Given the description of an element on the screen output the (x, y) to click on. 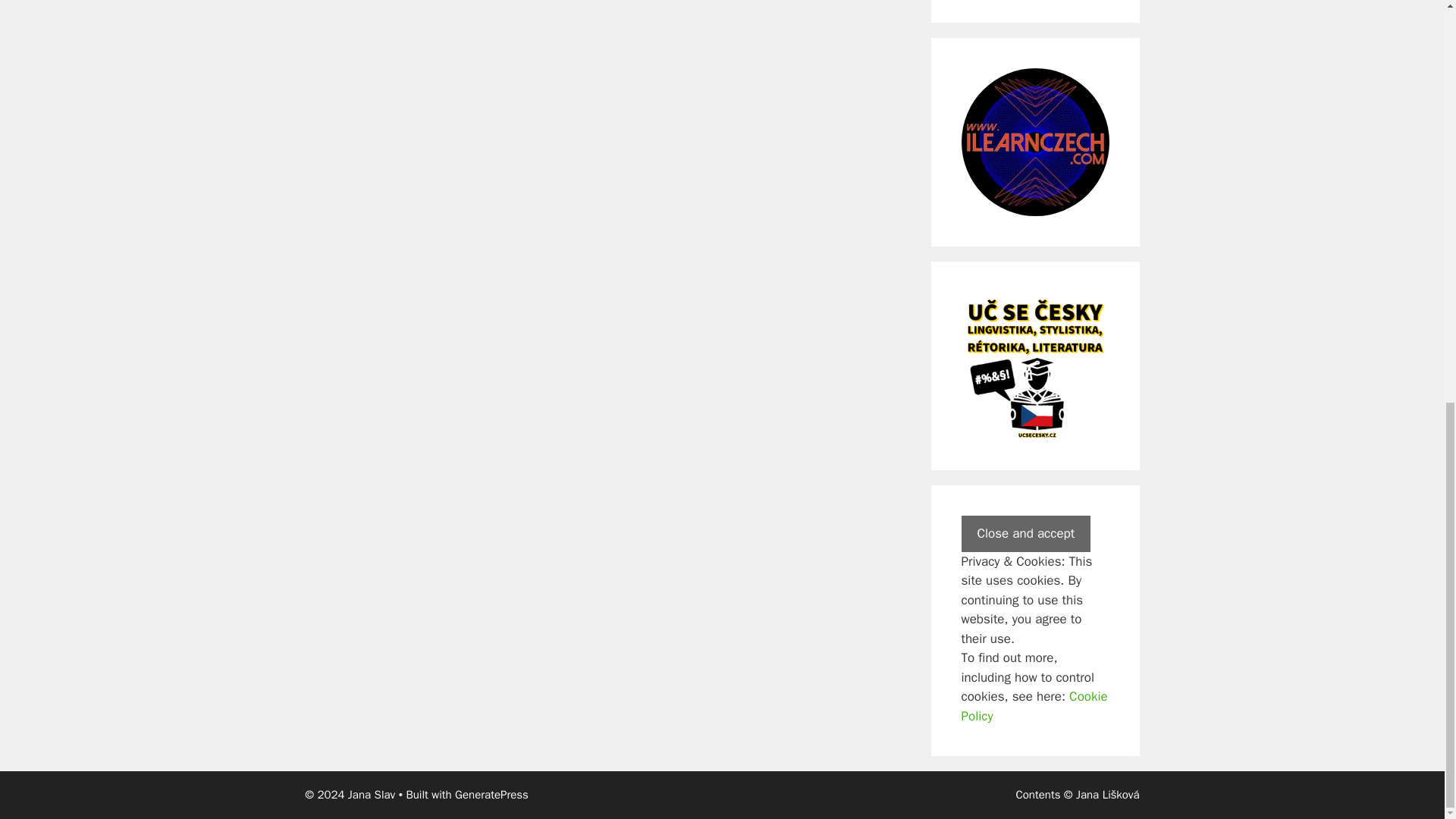
Cookie Policy (1034, 705)
Close and accept (1025, 533)
Close and accept (1025, 533)
GeneratePress (491, 794)
